Given the description of an element on the screen output the (x, y) to click on. 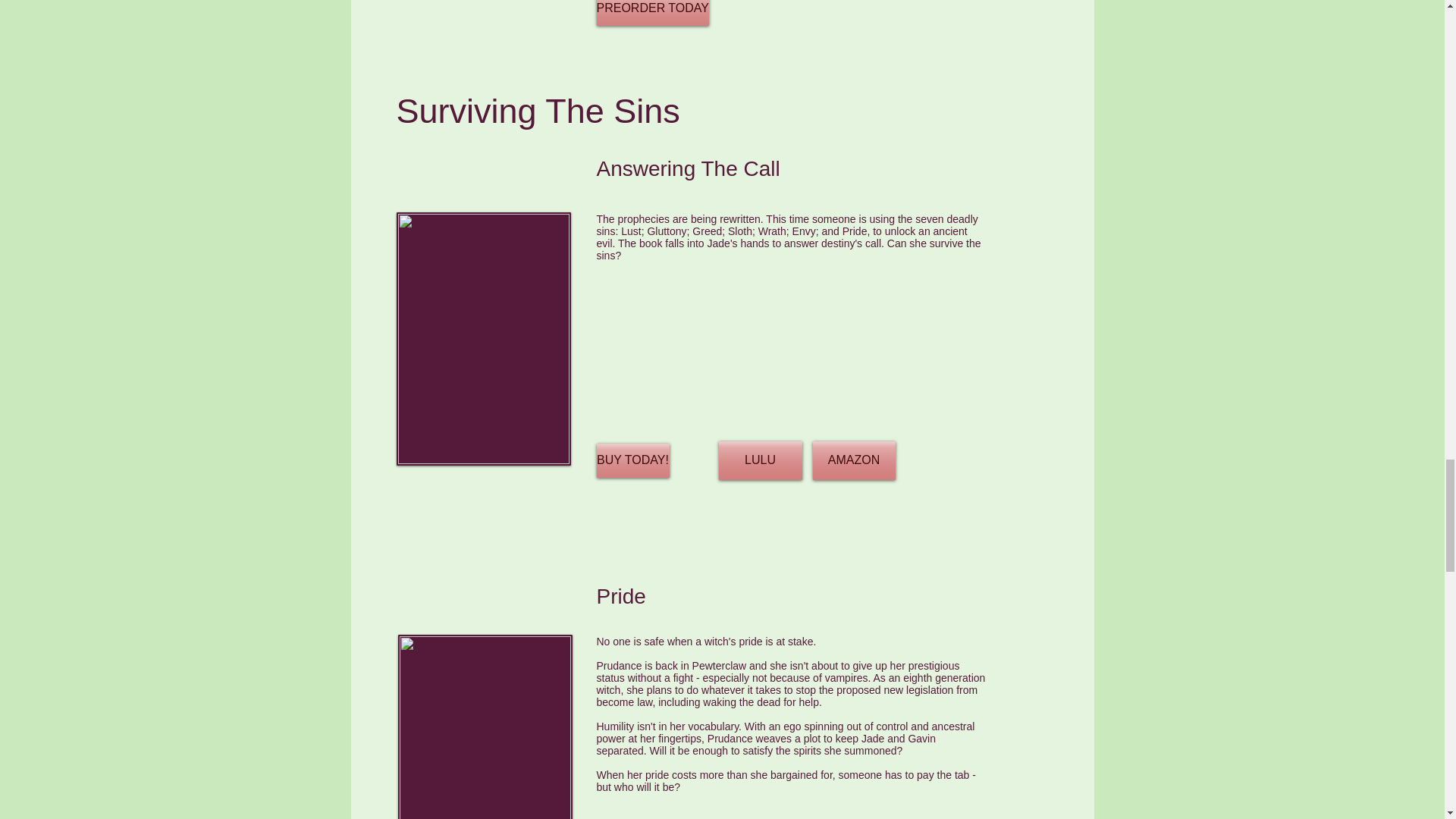
PREORDER TODAY (651, 12)
LULU (760, 460)
BUY TODAY! (631, 460)
AMAZON (853, 460)
